Given the description of an element on the screen output the (x, y) to click on. 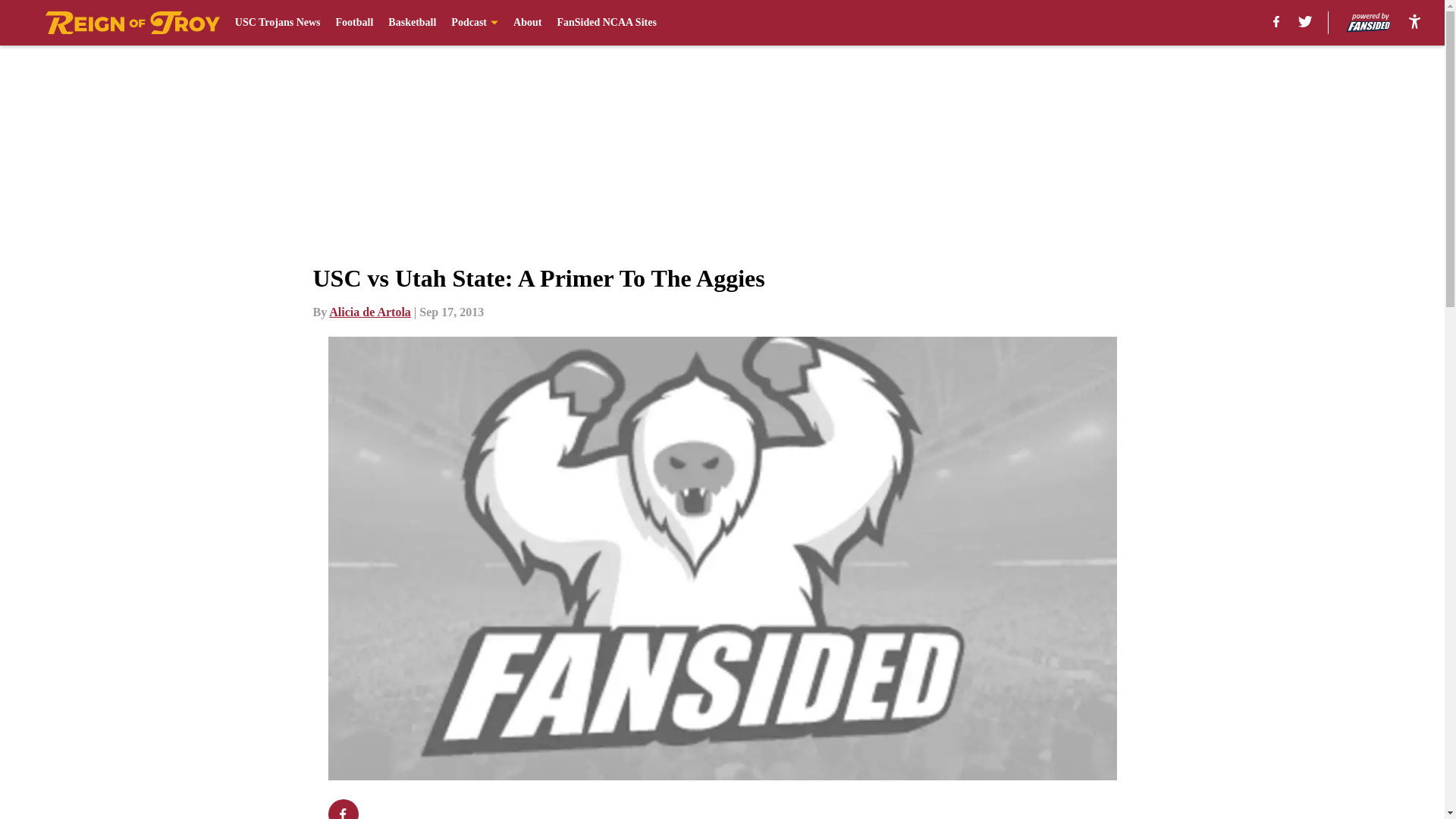
About (527, 22)
Basketball (411, 22)
Football (355, 22)
Podcast (474, 22)
FanSided NCAA Sites (606, 22)
Alicia de Artola (369, 311)
USC Trojans News (277, 22)
